Given the description of an element on the screen output the (x, y) to click on. 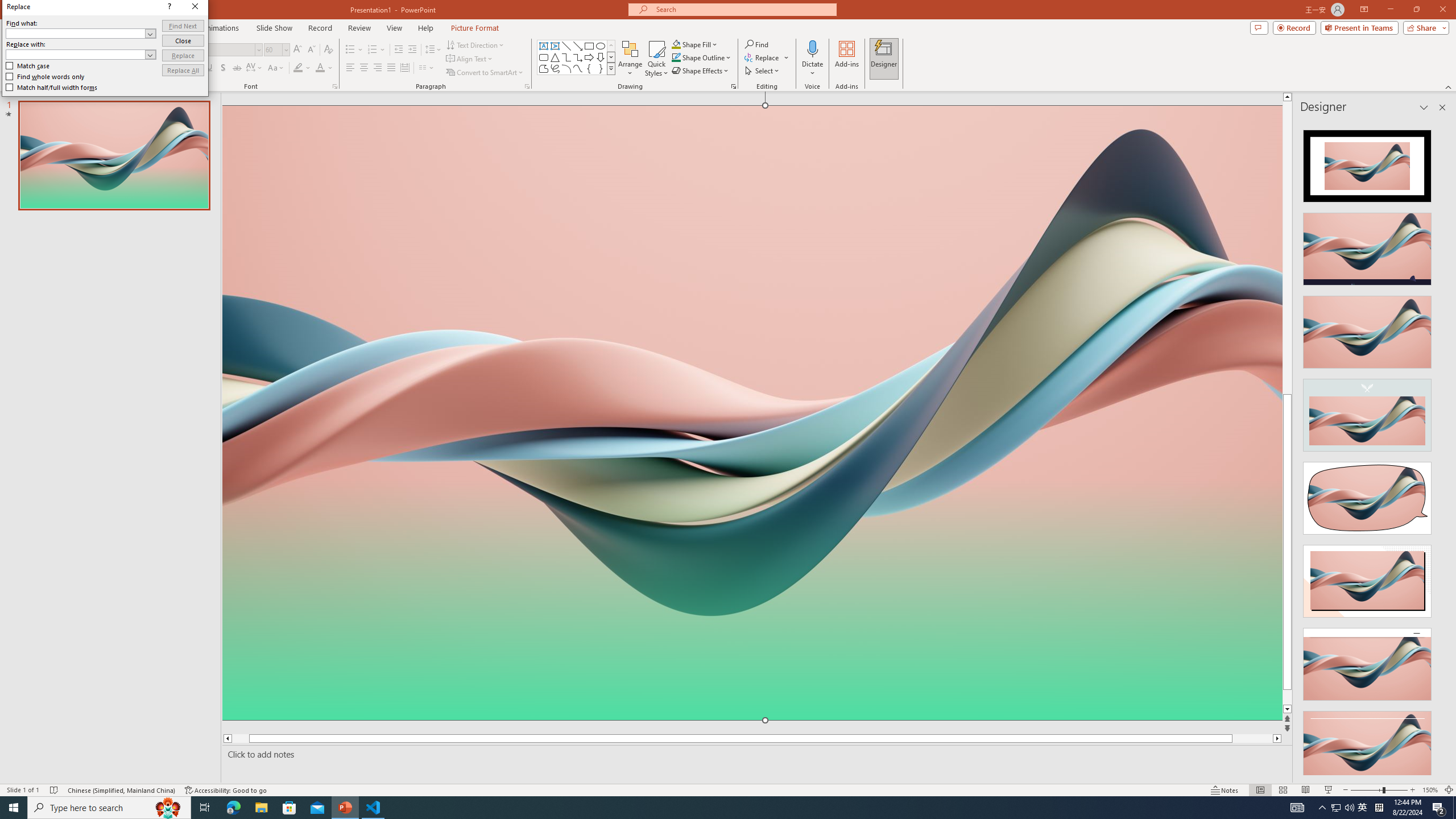
Strikethrough (237, 67)
